Given the description of an element on the screen output the (x, y) to click on. 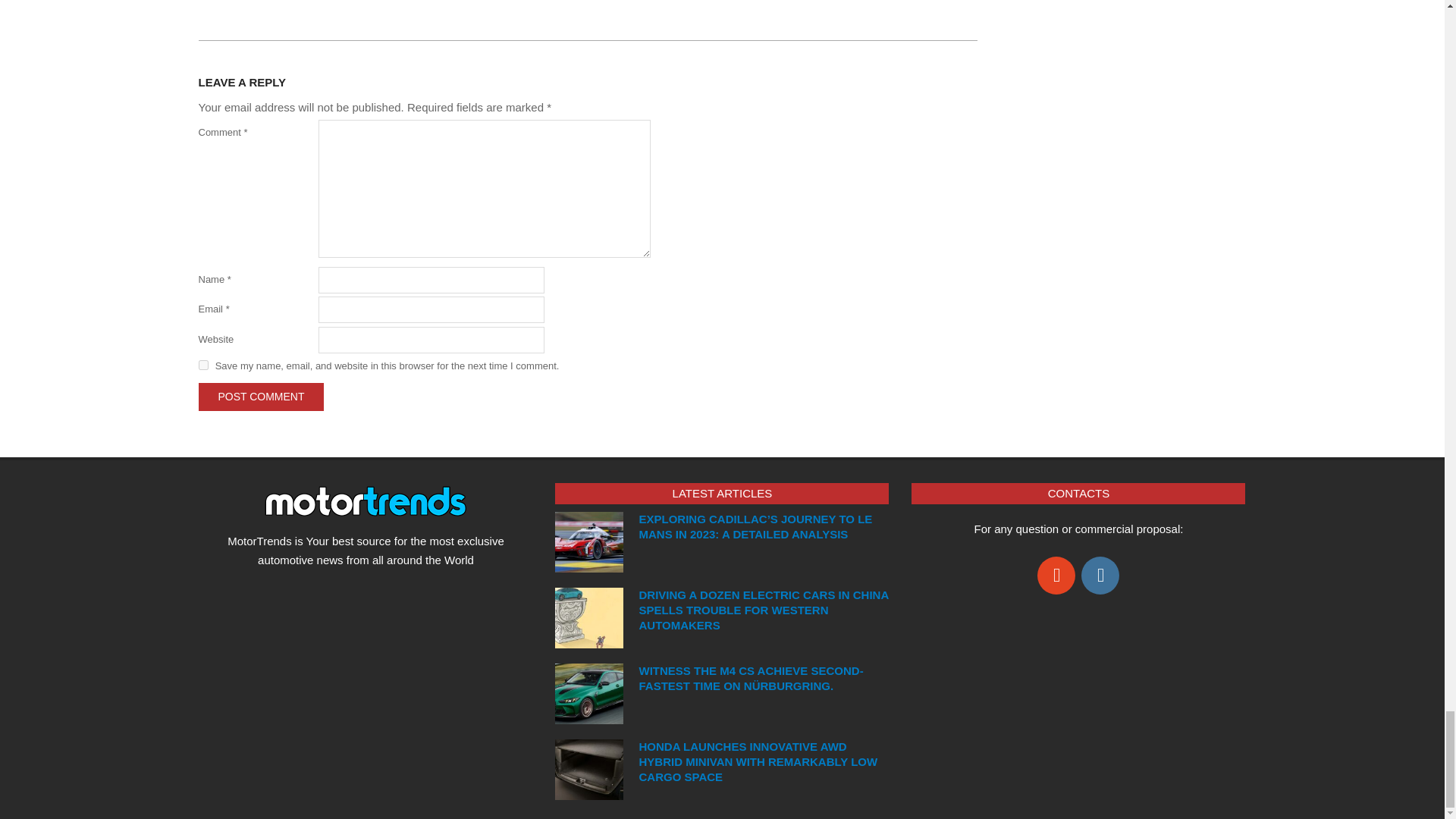
Post Comment (261, 397)
Post Comment (261, 397)
yes (203, 365)
